Given the description of an element on the screen output the (x, y) to click on. 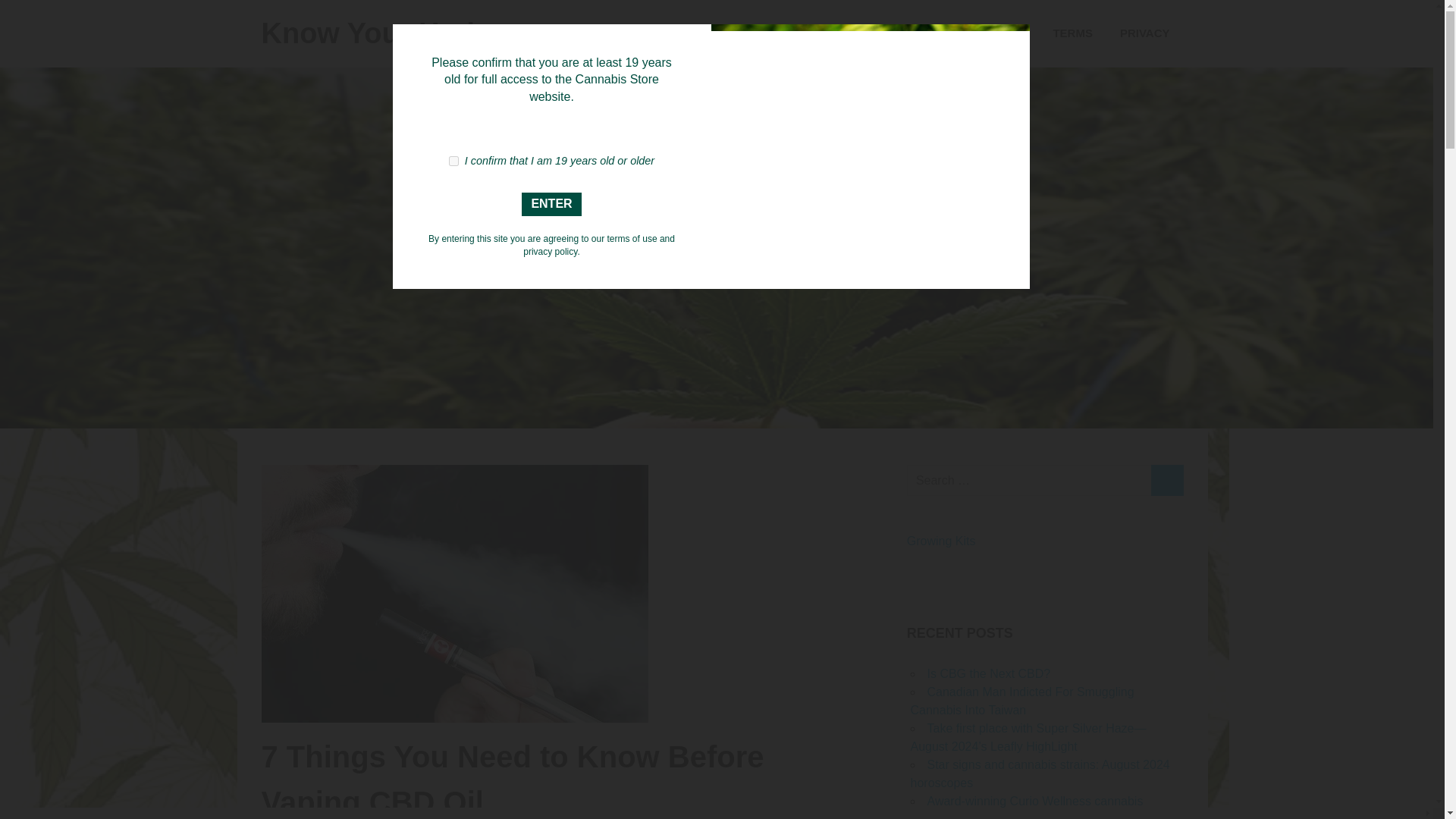
Star signs and cannabis strains: August 2024 horoscopes (1039, 773)
Growing Kits (941, 540)
HOME (830, 33)
TERMS (1072, 33)
COOKING WITH CANNABIS (950, 33)
on (453, 161)
Is CBG the Next CBD? (987, 673)
Know Your Herbs (379, 33)
SEARCH (1166, 480)
Search for: (1029, 480)
Enter (551, 204)
PRIVACY (1144, 33)
Canadian Man Indicted For Smuggling Cannabis Into Taiwan (1022, 700)
